Given the description of an element on the screen output the (x, y) to click on. 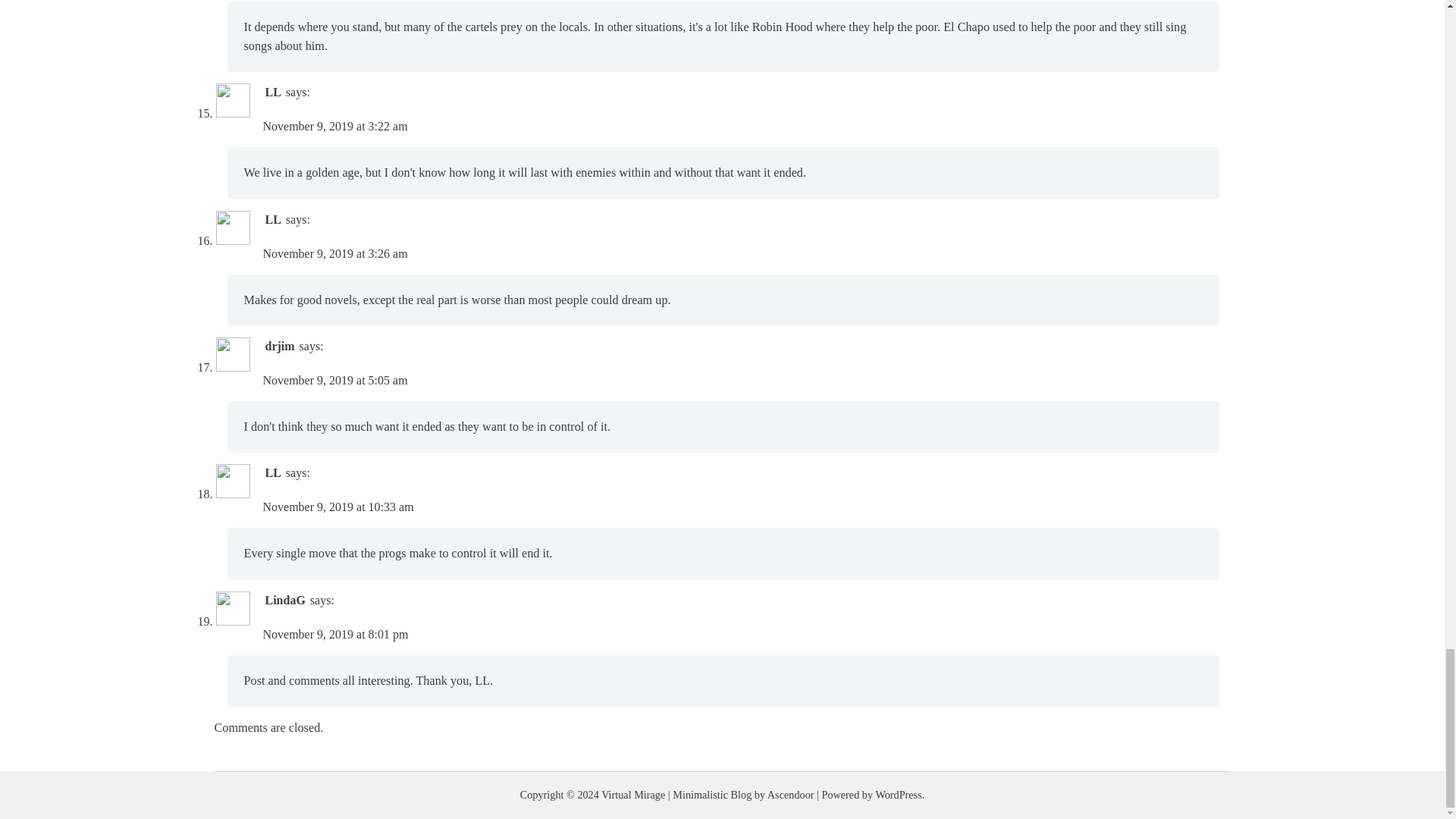
November 9, 2019 at 8:01 pm (334, 634)
November 9, 2019 at 10:33 am (337, 506)
Virtual Mirage (633, 794)
November 9, 2019 at 3:26 am (334, 253)
Ascendoor (790, 794)
November 9, 2019 at 3:22 am (334, 125)
November 9, 2019 at 5:05 am (334, 379)
